Given the description of an element on the screen output the (x, y) to click on. 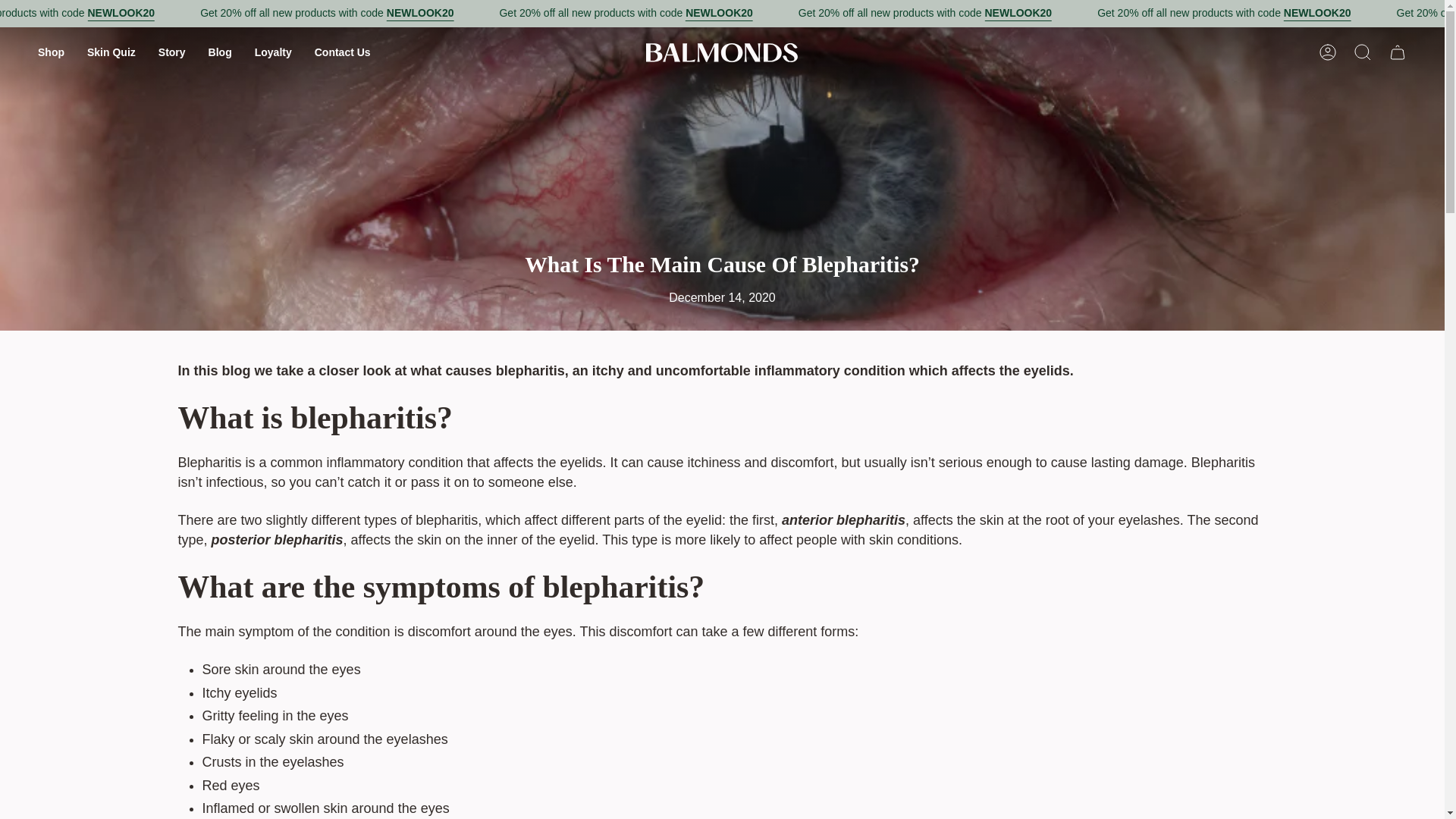
NEWLOOK20 (1134, 14)
My Account (1327, 52)
NEWLOOK20 (240, 14)
Skin Quiz (111, 52)
All Products (788, 14)
All Products (194, 14)
NEWLOOK20 (836, 14)
Blog (219, 52)
Story (171, 52)
All Products (1384, 14)
Cart (1397, 52)
Shop (50, 52)
All Products (1086, 14)
All Products (490, 14)
Search (1362, 52)
